Given the description of an element on the screen output the (x, y) to click on. 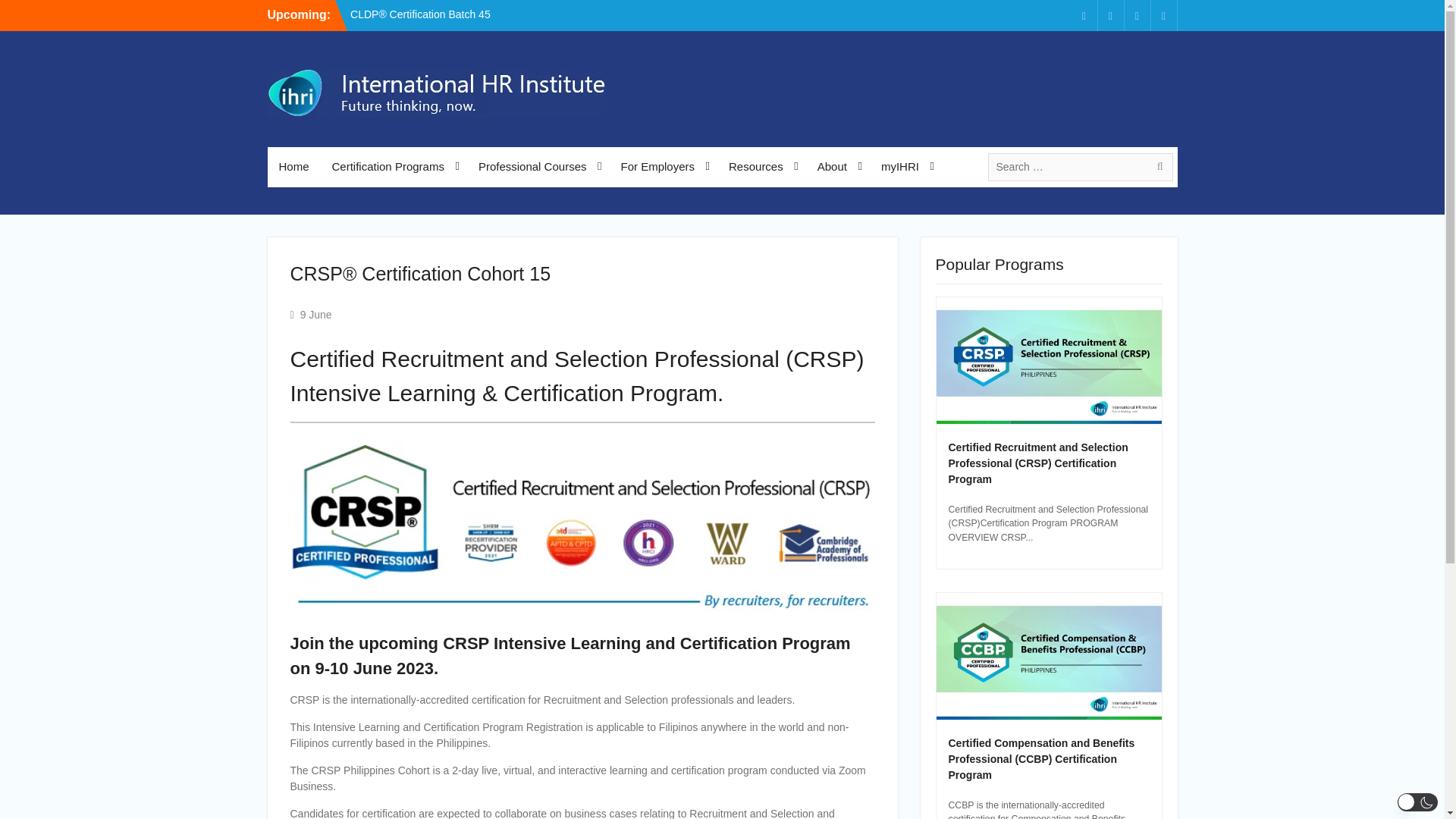
Home (293, 167)
Instagram (1136, 15)
Facebook (1084, 15)
LinkedIn (1110, 15)
Certification Programs (393, 167)
YouTube (1163, 15)
